Given the description of an element on the screen output the (x, y) to click on. 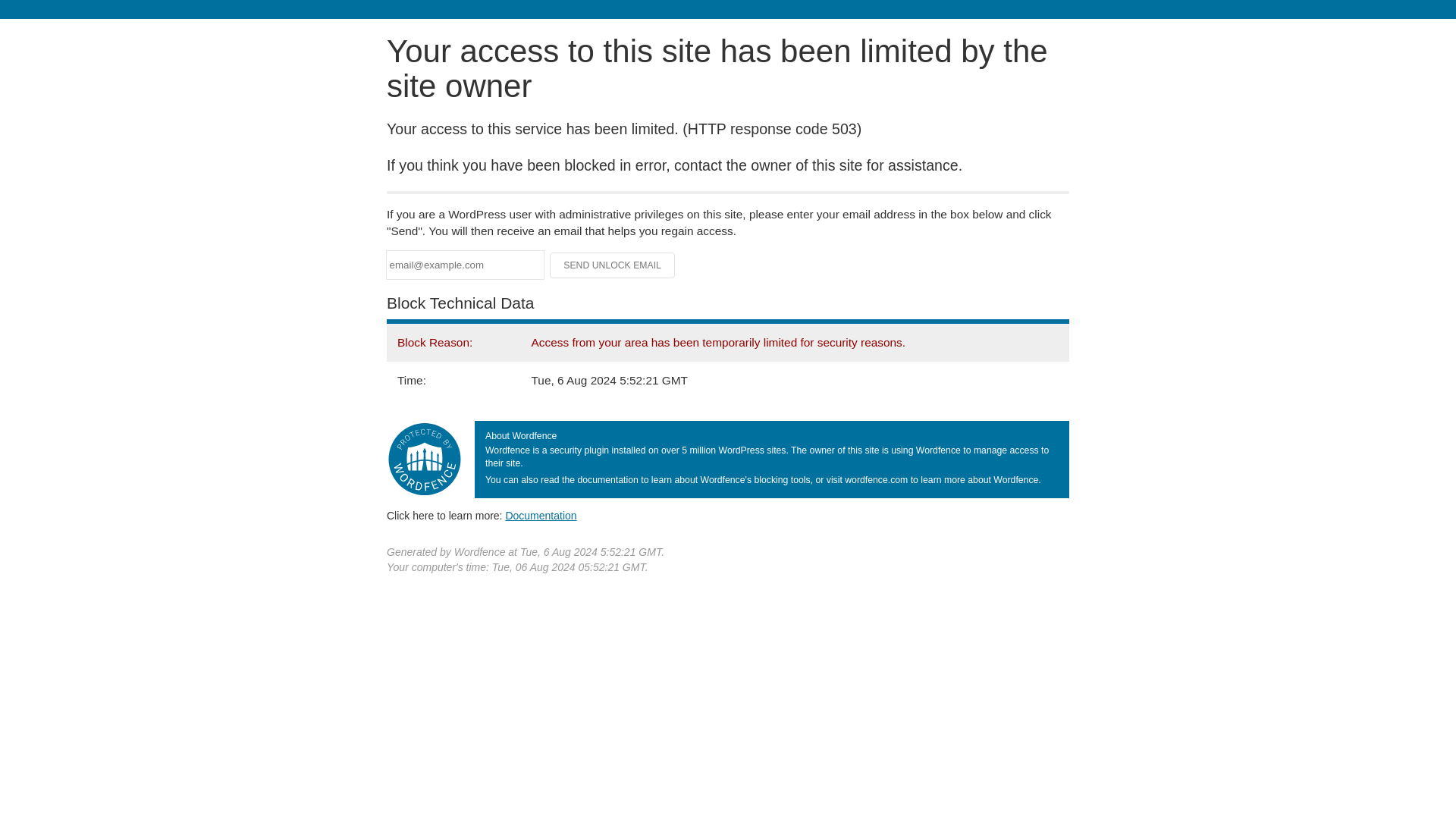
Send Unlock Email (612, 265)
Documentation (540, 515)
Send Unlock Email (612, 265)
